Given the description of an element on the screen output the (x, y) to click on. 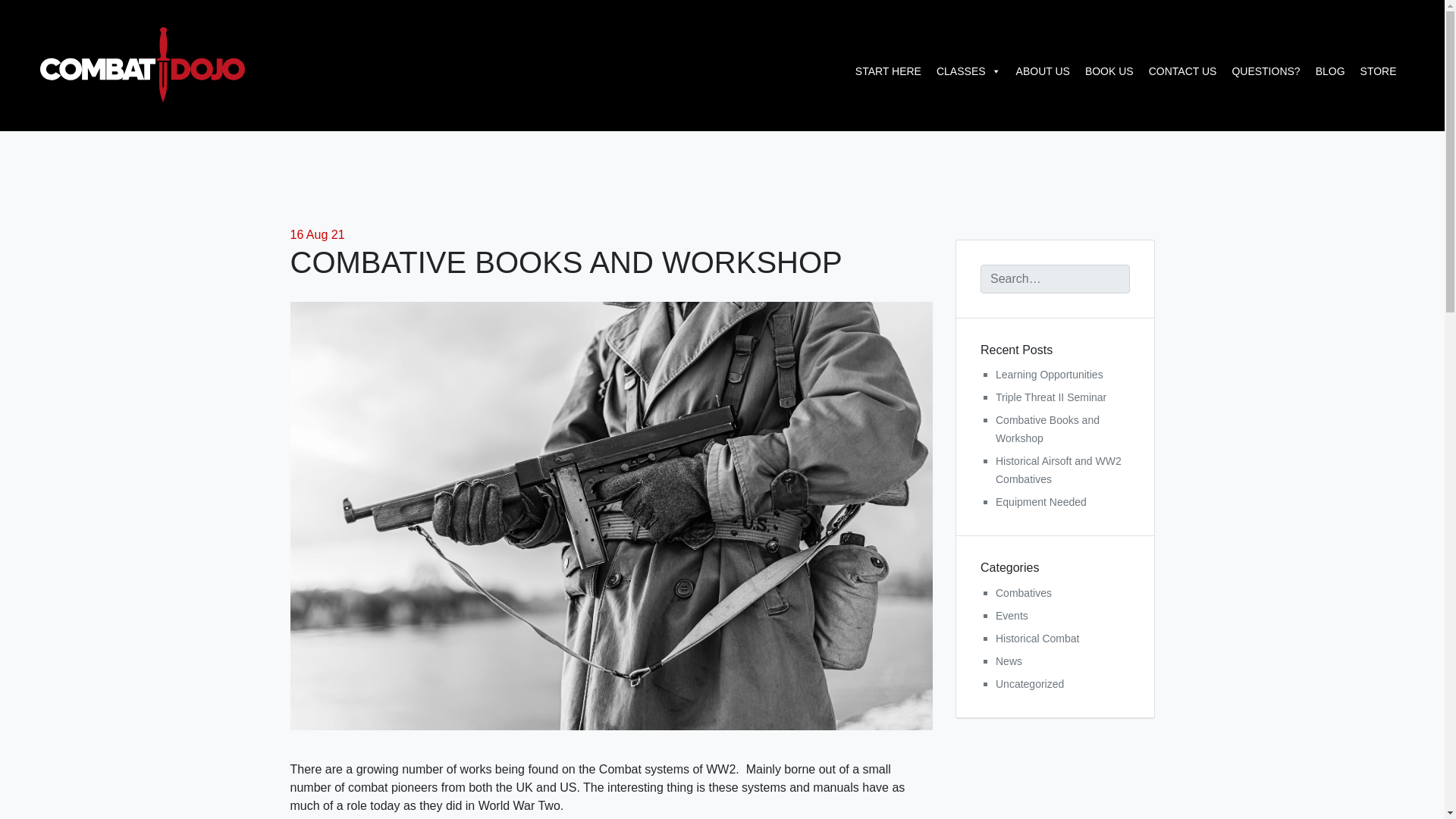
BOOK US (1109, 71)
Triple Threat II Seminar (1050, 397)
Events (1011, 615)
QUESTIONS? (1265, 71)
CLASSES (968, 71)
Equipment Needed (1040, 501)
BLOG (1329, 71)
STORE (1378, 71)
Combative Books and Workshop (1047, 429)
Uncategorized (1029, 684)
News (1008, 661)
Historical Airsoft and WW2 Combatives (1058, 470)
Combatives (1023, 592)
START HERE (887, 71)
Historical Combat (1036, 638)
